Given the description of an element on the screen output the (x, y) to click on. 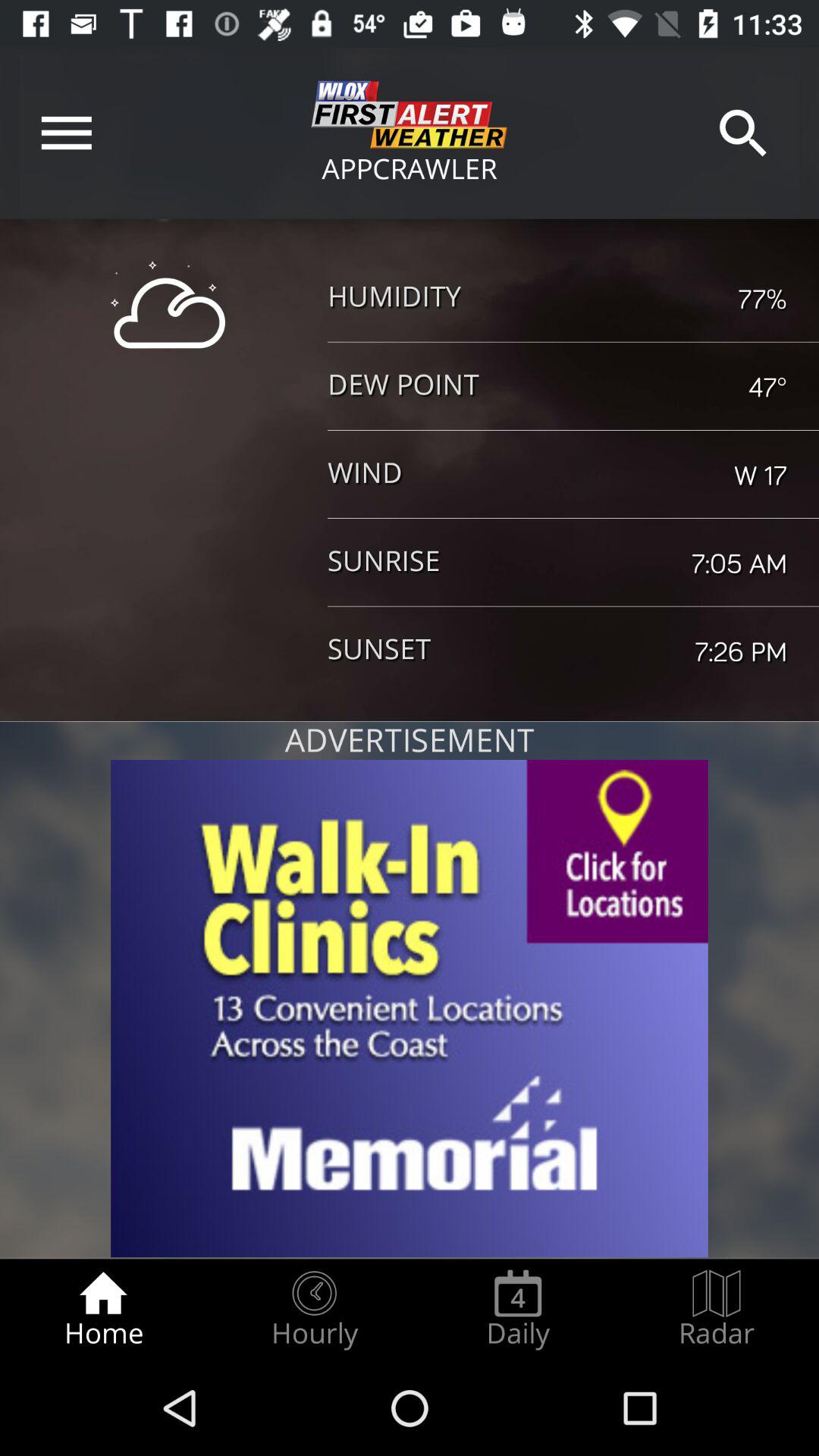
click to go to advertisement (409, 1008)
